Given the description of an element on the screen output the (x, y) to click on. 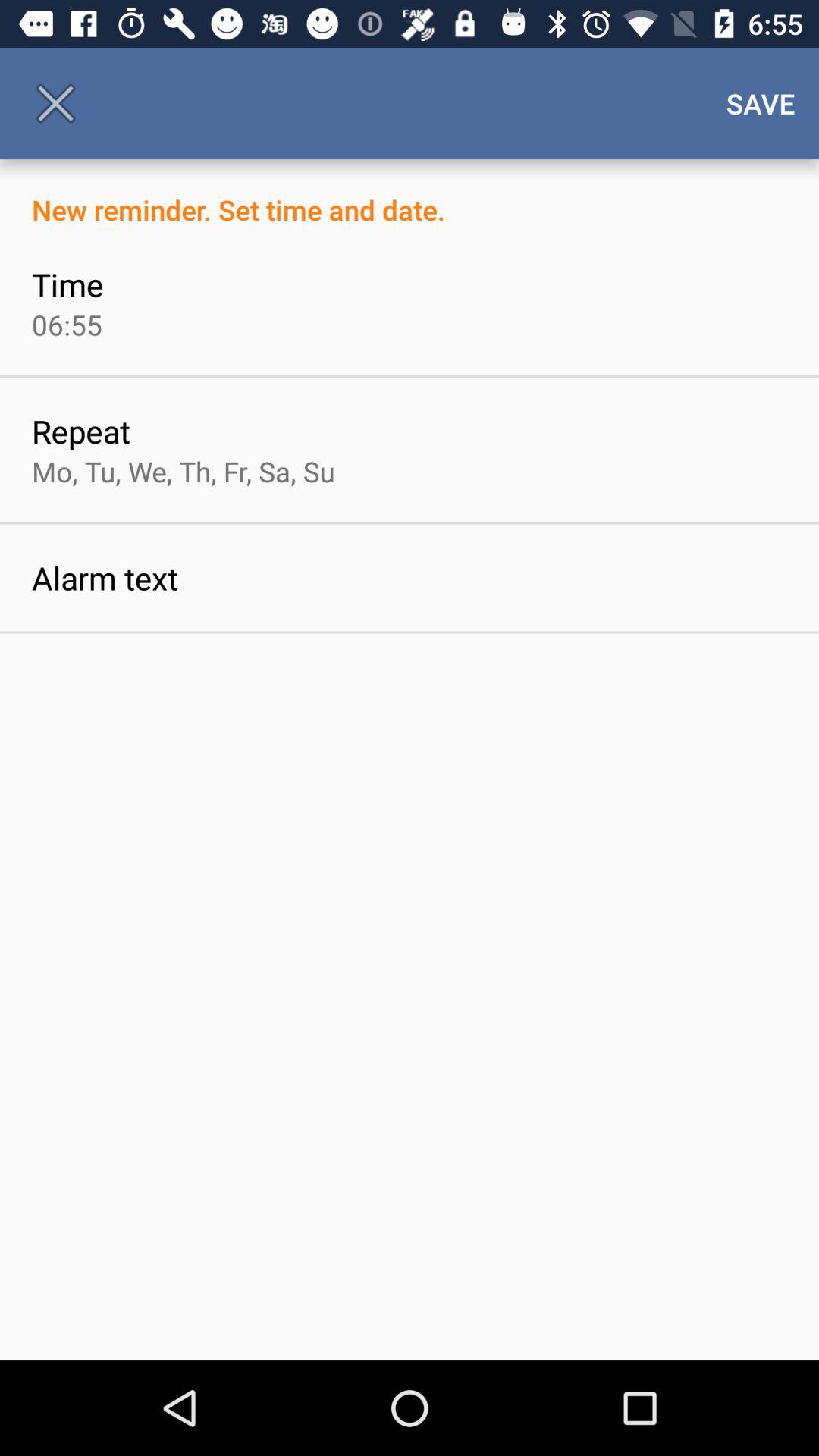
choose the icon above new reminder set icon (55, 103)
